Given the description of an element on the screen output the (x, y) to click on. 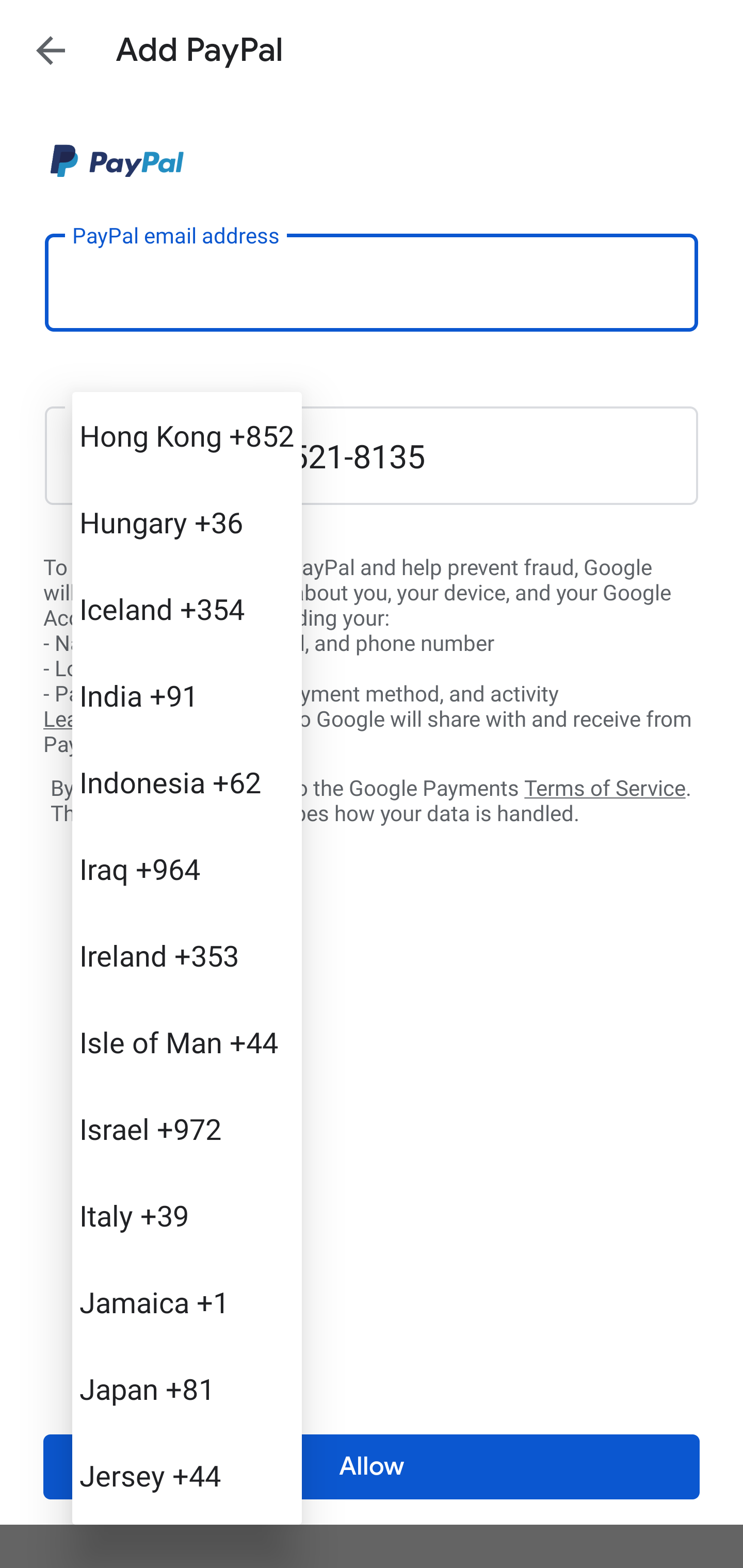
Hong Kong +852 (186, 435)
Hungary +36 (186, 522)
Iceland +354 (186, 609)
India +91 (186, 695)
Indonesia +62 (186, 781)
Iraq +964 (186, 868)
Ireland +353 (186, 955)
Isle of Man +44 (186, 1041)
Israel +972 (186, 1128)
Italy +39 (186, 1215)
Jamaica +1 (186, 1302)
Japan +81 (186, 1388)
Jersey +44 (186, 1474)
